Given the description of an element on the screen output the (x, y) to click on. 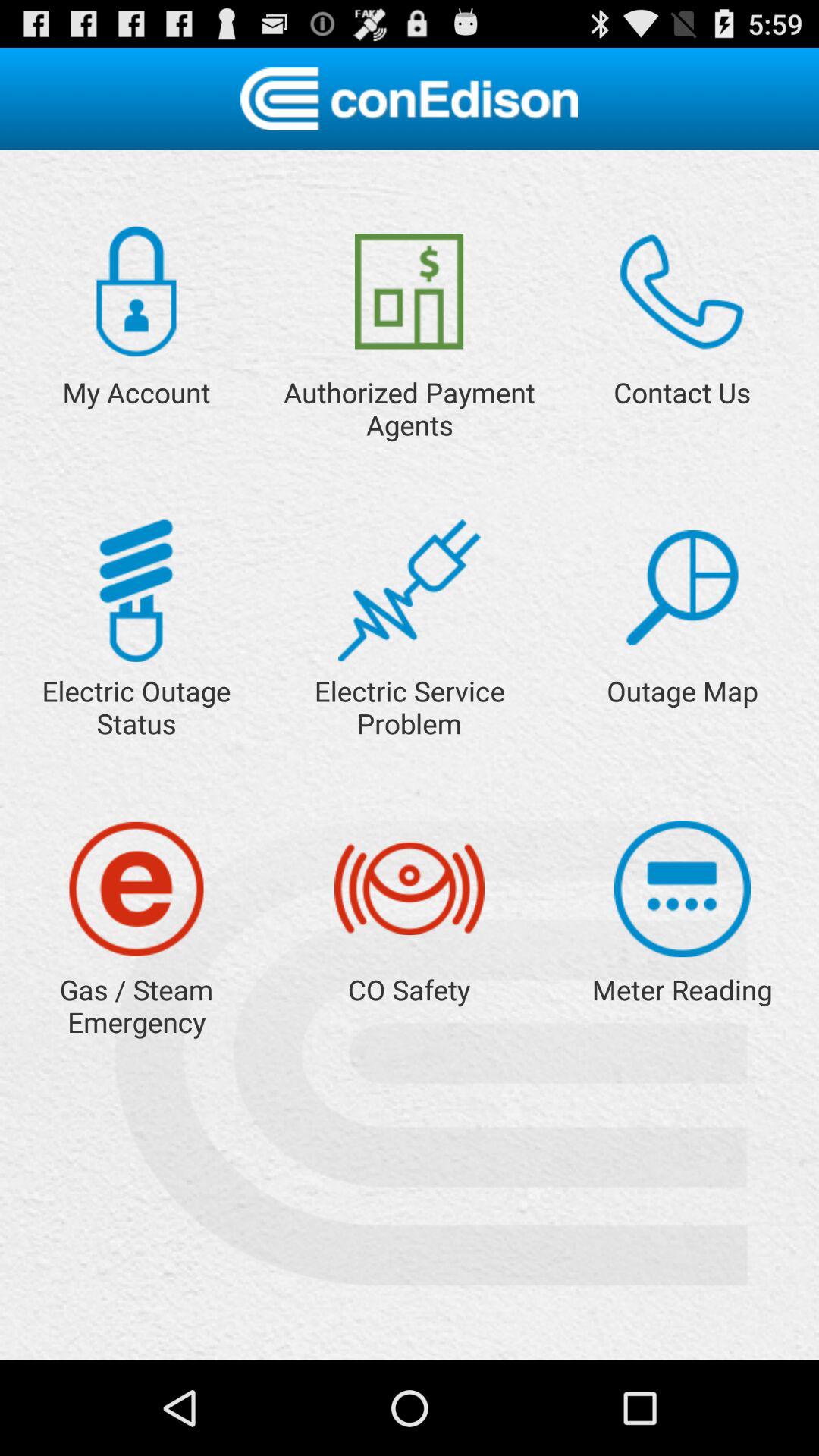
select the item next to the my account app (408, 291)
